Given the description of an element on the screen output the (x, y) to click on. 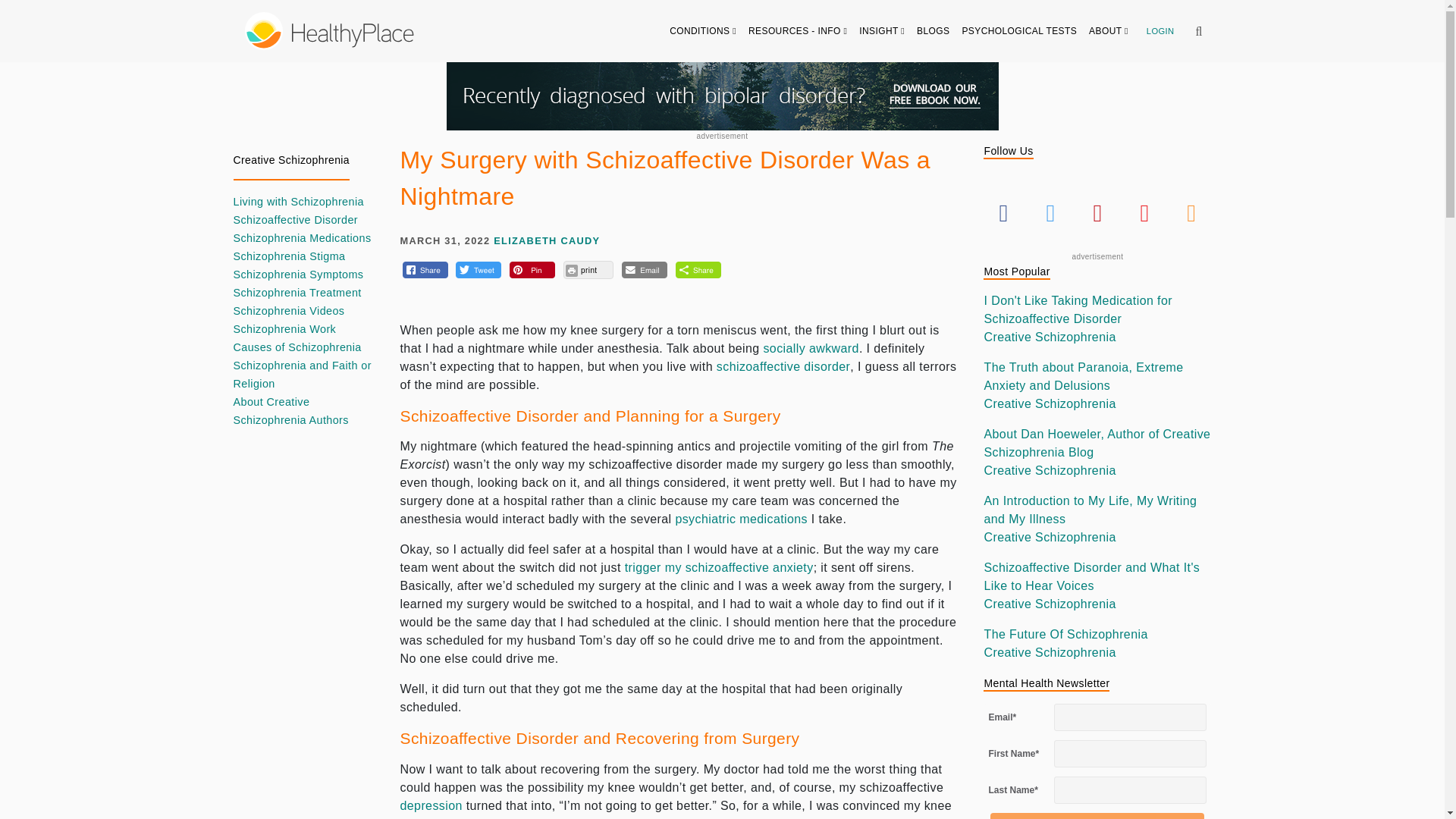
Get our free bipolar eBook. Click to download. (721, 96)
Anxiety and Schizoaffective Disorder, Schizophrenia (718, 567)
What Is Depression? Depression Definition (431, 805)
INSIGHT (882, 31)
How to Avoid Feeling Socially Awkward (810, 348)
Psychiatric Medications (741, 518)
Submit (1097, 816)
What Is Schizoaffective Disorder? (783, 366)
CONDITIONS (702, 31)
RESOURCES - INFO (797, 31)
